Given the description of an element on the screen output the (x, y) to click on. 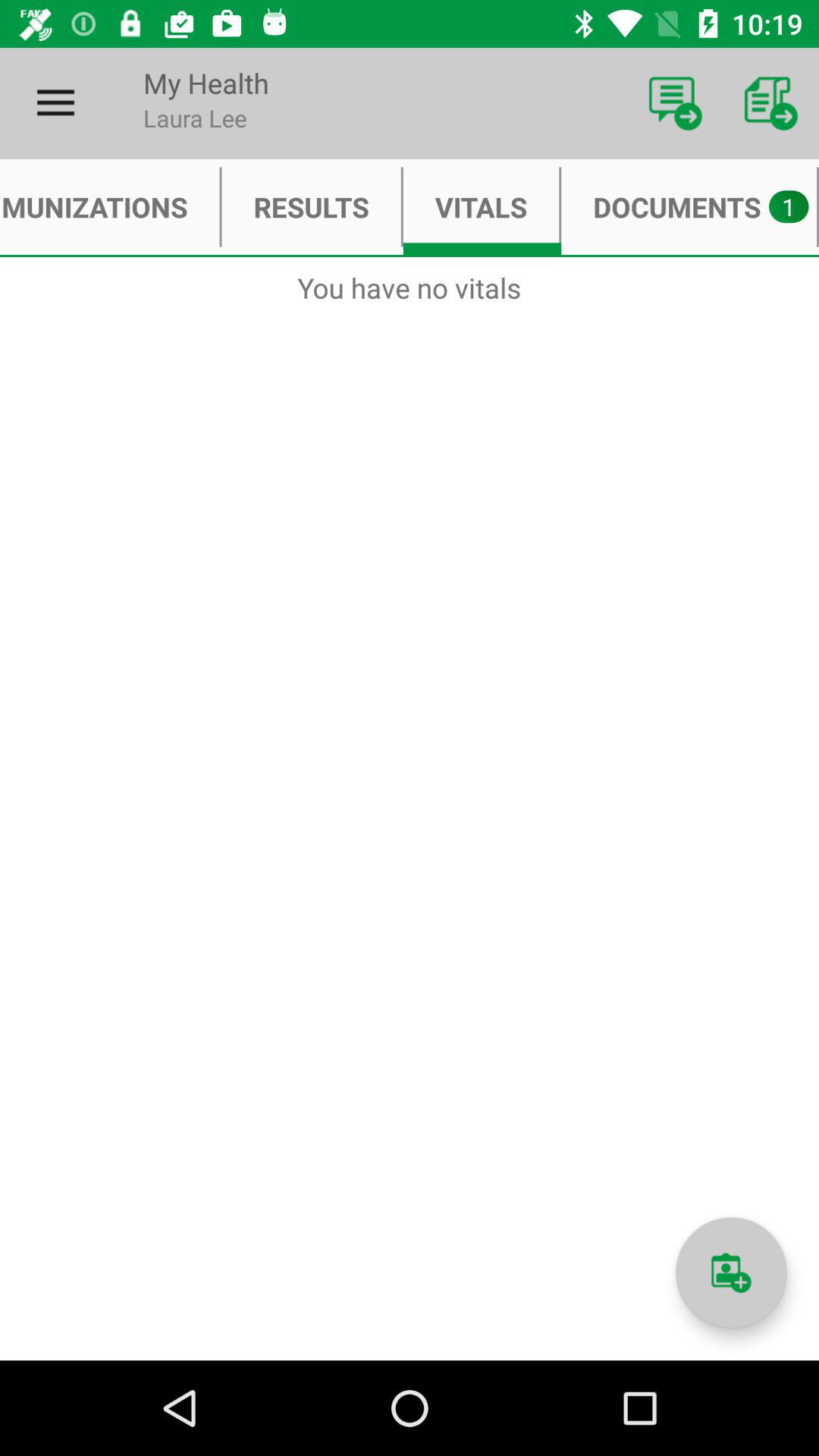
turn on the item above the documents (771, 103)
